Given the description of an element on the screen output the (x, y) to click on. 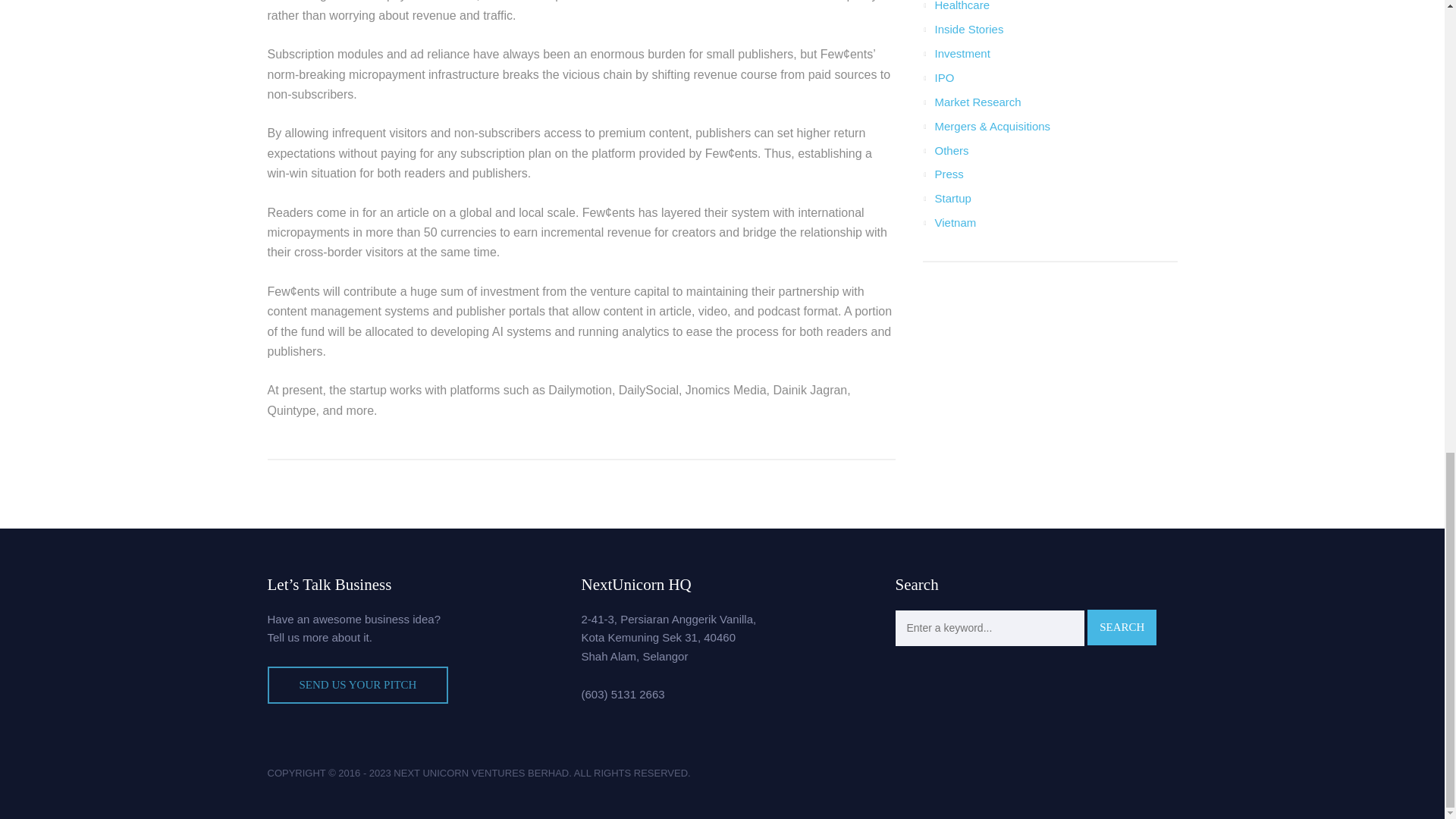
Inside Stories (968, 29)
Search (1121, 627)
Search (1121, 627)
Healthcare (962, 5)
